Given the description of an element on the screen output the (x, y) to click on. 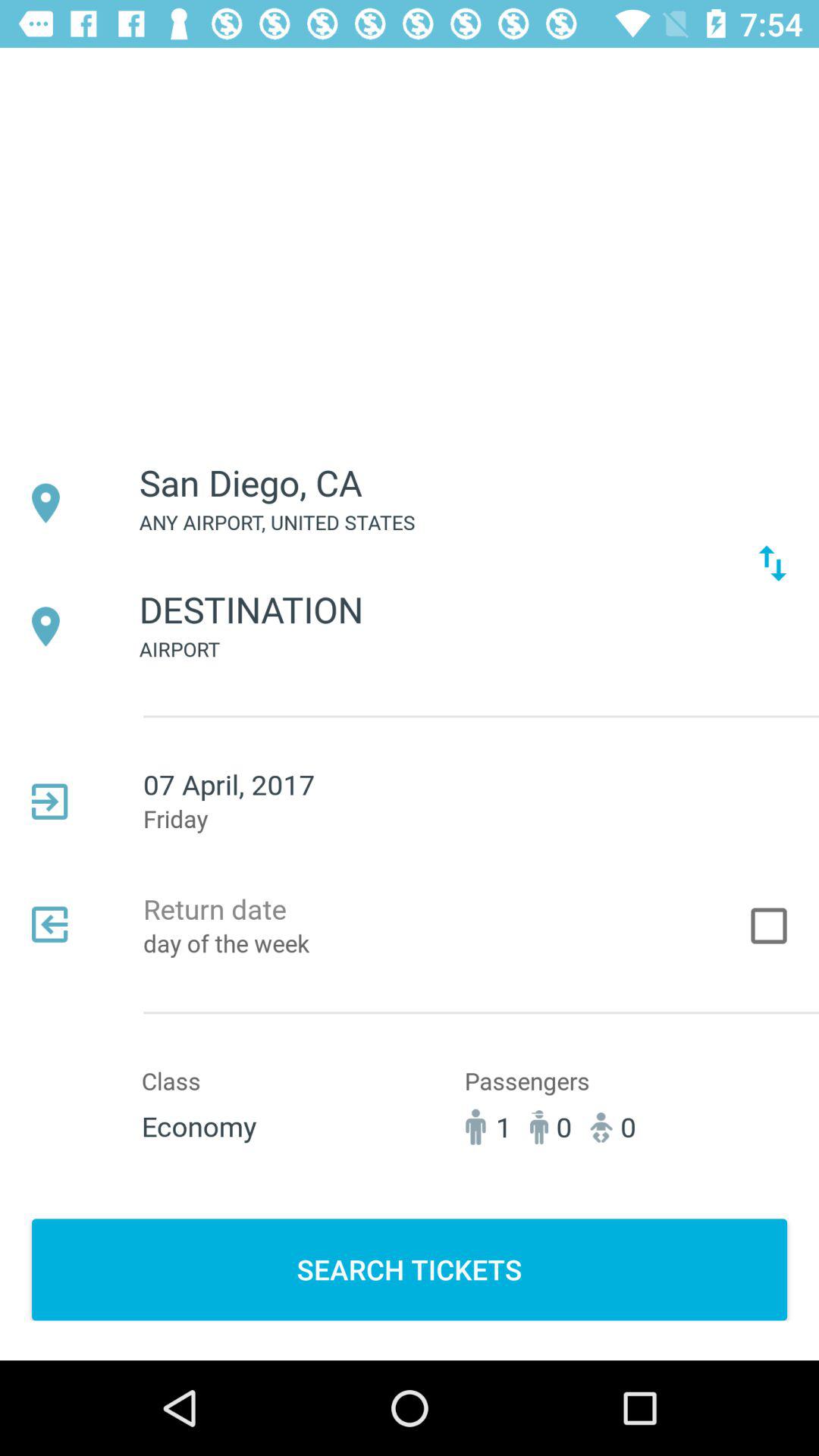
tap icon next to the any airport united item (772, 563)
